Given the description of an element on the screen output the (x, y) to click on. 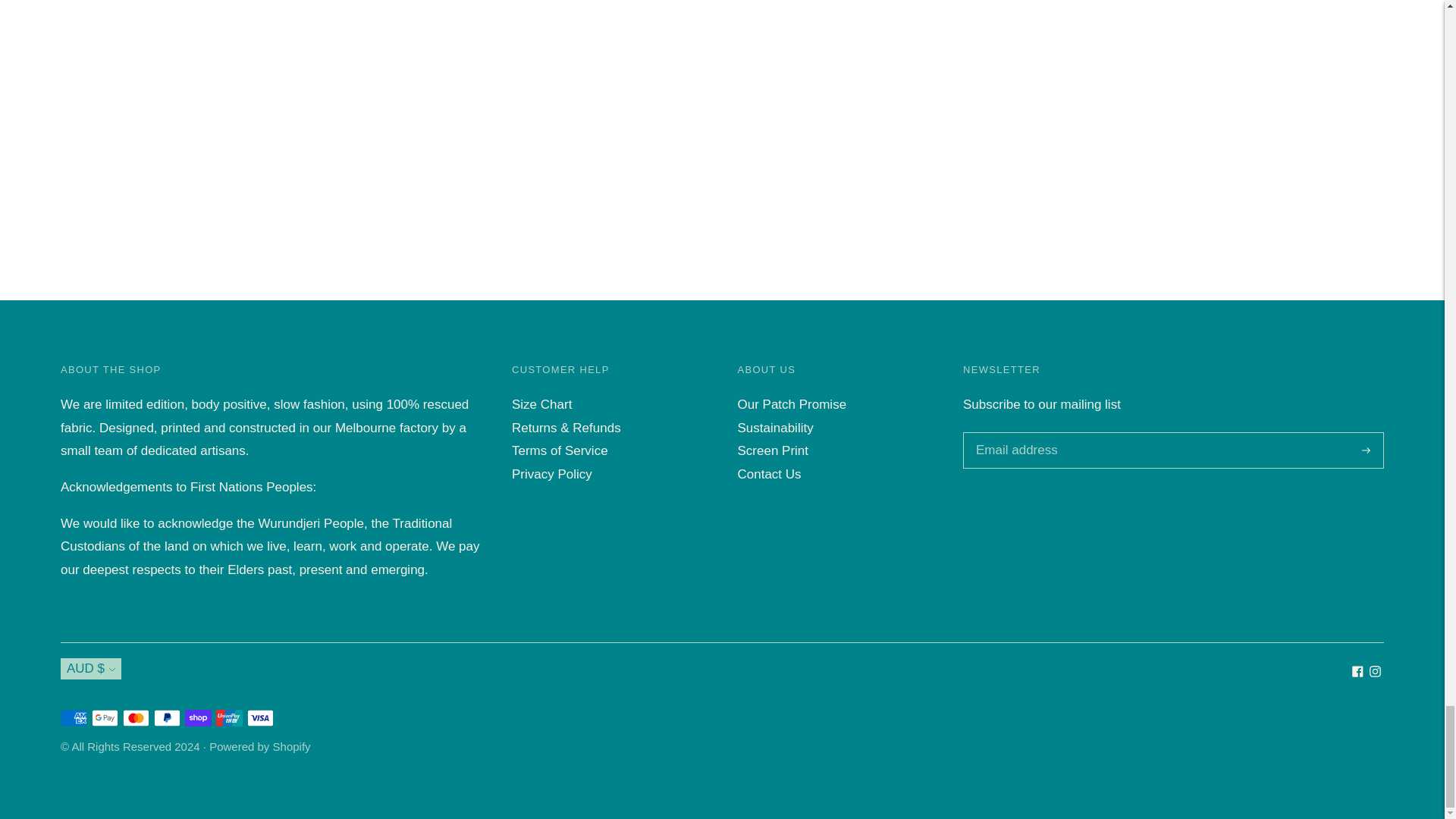
NMBQ on Facebook (1357, 672)
Shop Pay (197, 718)
NMBQ on Instagram (1375, 672)
American Express (74, 718)
Visa (260, 718)
Google Pay (104, 718)
Union Pay (229, 718)
Mastercard (135, 718)
PayPal (167, 718)
